Given the description of an element on the screen output the (x, y) to click on. 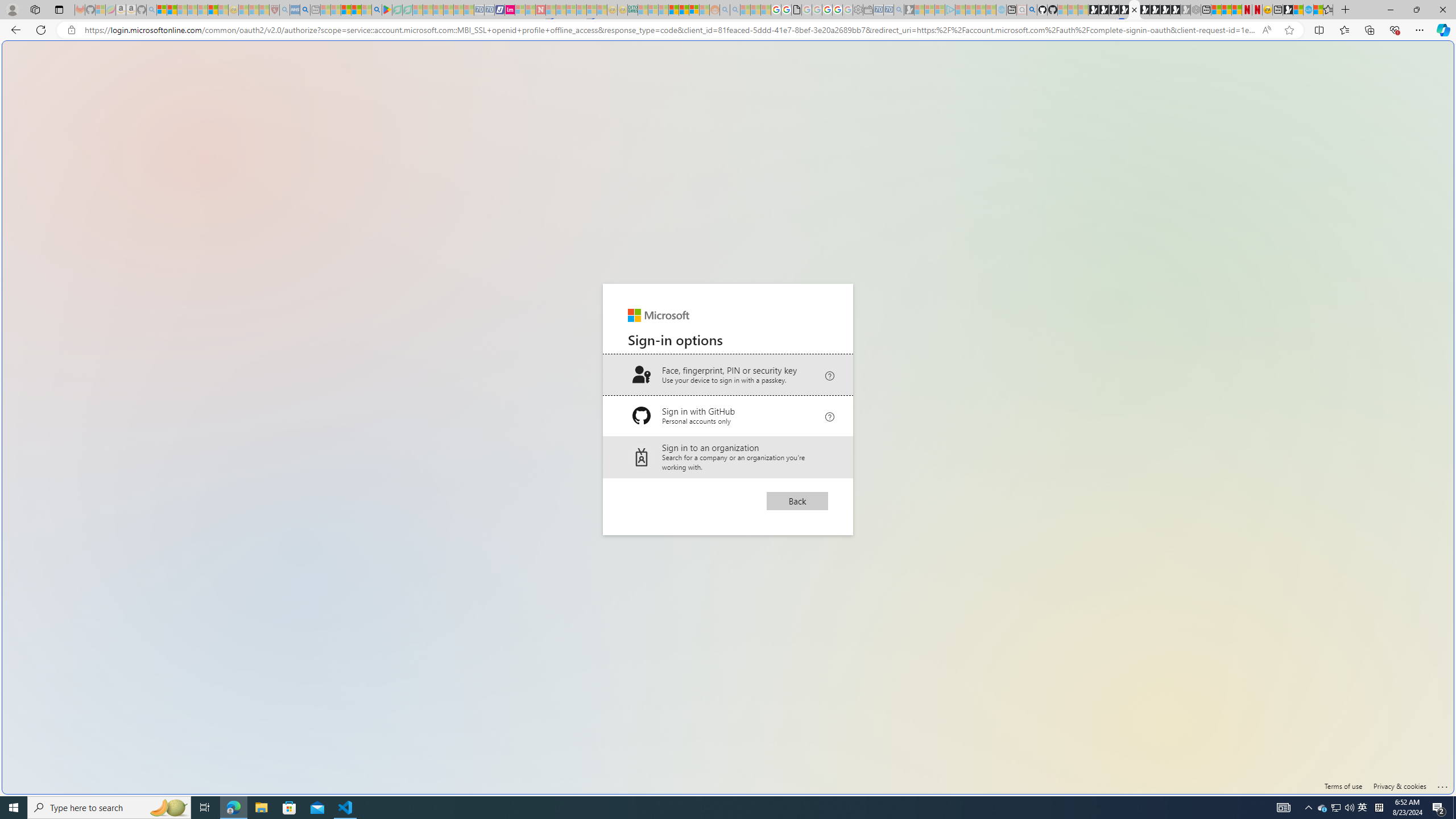
Jobs - lastminute.com Investor Portal (509, 9)
Frequently visited (965, 151)
Close split screen (1208, 57)
Tabs you've opened (885, 151)
